Given the description of an element on the screen output the (x, y) to click on. 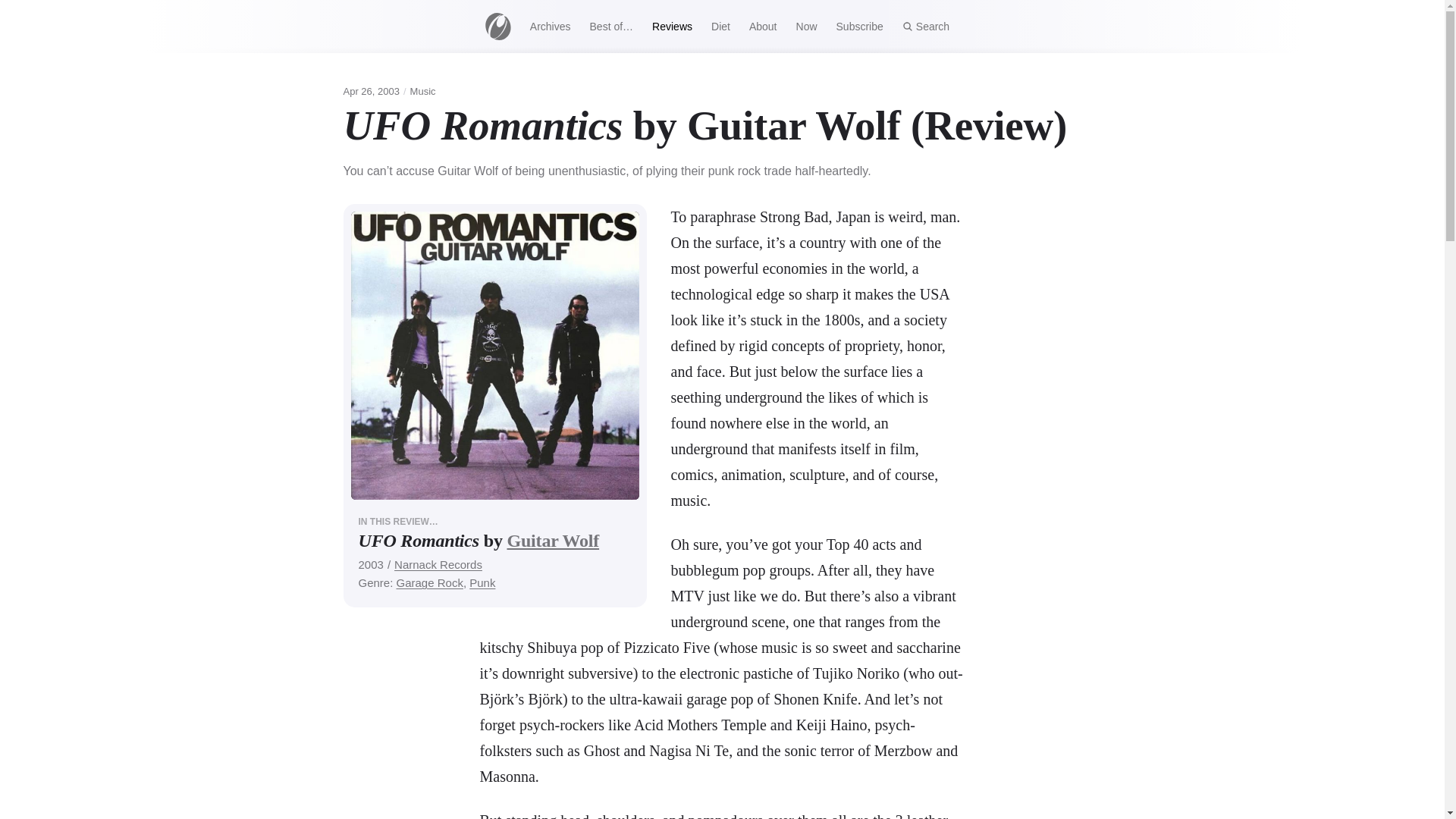
Now (806, 26)
Narnack Records (437, 563)
Search (925, 26)
Music (422, 91)
View all reviews of Narnack Records titles (437, 563)
Reviews (672, 26)
Guitar Wolf (552, 540)
About (762, 26)
Apr 26, 2003 (370, 91)
View all reviews of Guitar Wolf (552, 540)
